Given the description of an element on the screen output the (x, y) to click on. 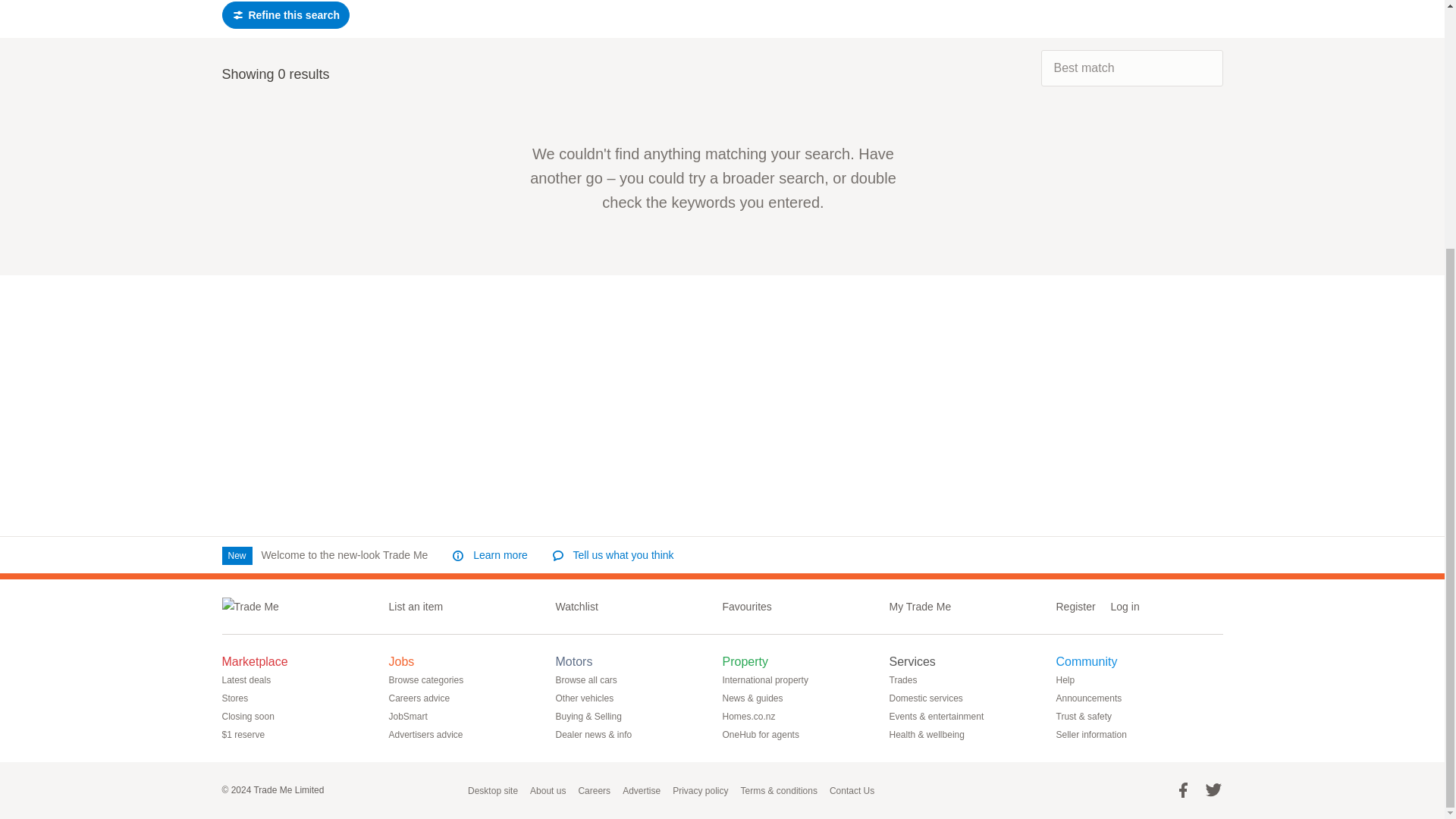
Stores (240, 698)
Refine this search (285, 14)
Watchlist (582, 606)
Trade Me - Life lives here (249, 606)
Follow Trade Me on Twitter (1213, 790)
List an item (421, 606)
Closing soon (253, 716)
My Trade Me (925, 606)
Follow Trade Me on Facebook (1182, 790)
Log in (1125, 606)
Learn more (494, 555)
Latest deals (251, 679)
Tell us what you think (618, 555)
Register (1076, 606)
Favourites (752, 606)
